Given the description of an element on the screen output the (x, y) to click on. 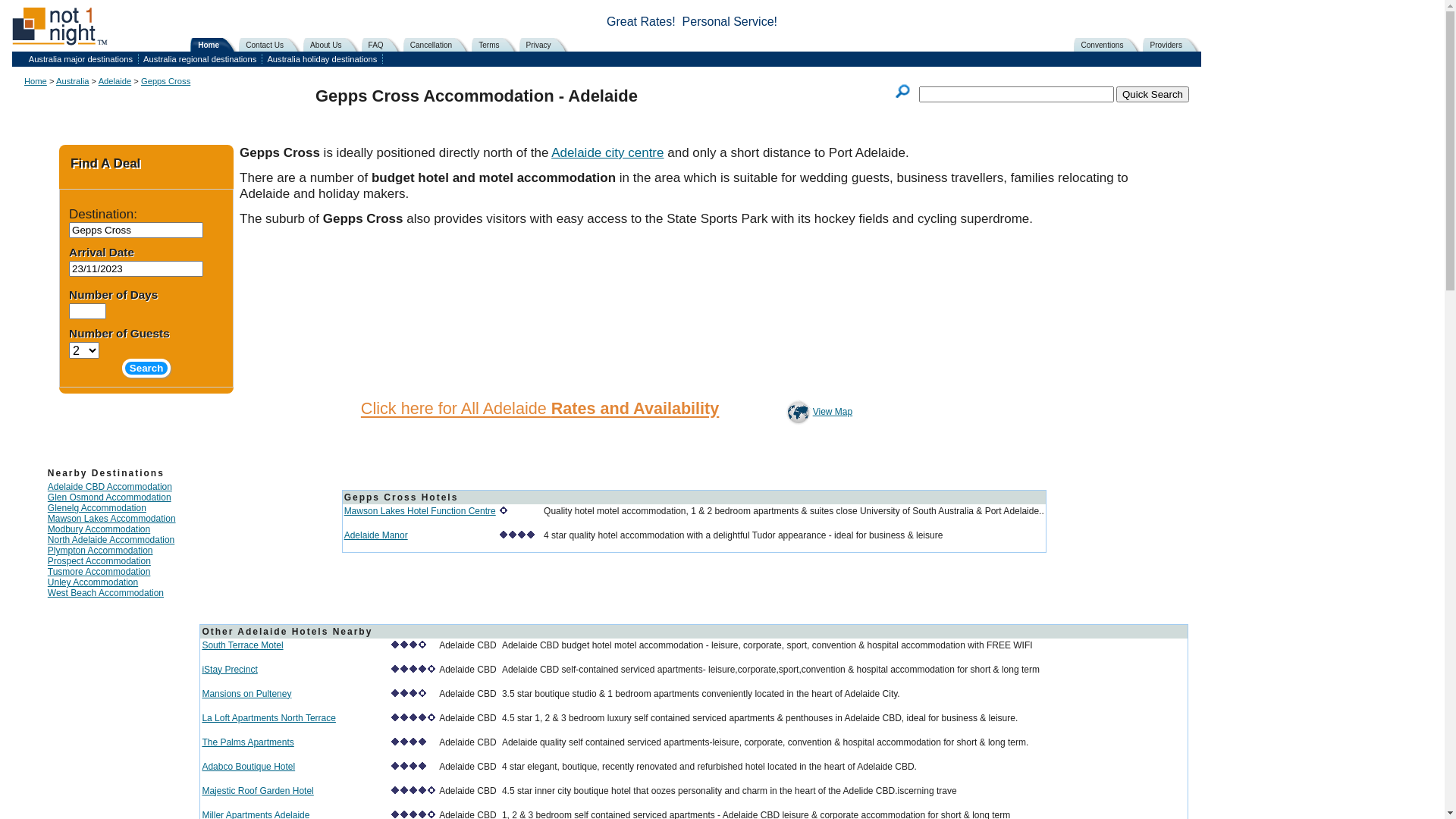
Click here for All Adelaide Rates and Availability Element type: text (539, 408)
The Palms Apartments Element type: text (247, 742)
Majestic Roof Garden Hotel Element type: text (257, 790)
Home Element type: text (35, 80)
Cancellation Element type: text (438, 44)
Australia holiday destinations Element type: text (322, 58)
Adelaide CBD Accommodation Element type: text (109, 486)
South Terrace Motel Element type: text (241, 645)
Australia Element type: text (72, 80)
Adelaide city centre Element type: text (607, 152)
Conventions Element type: text (1109, 44)
Contact Us Element type: text (272, 44)
Tusmore Accommodation Element type: text (98, 571)
Adelaide Element type: text (114, 80)
Privacy Element type: text (546, 44)
West Beach Accommodation Element type: text (105, 592)
Unley Accommodation Element type: text (92, 582)
Adabco Boutique Hotel Element type: text (247, 766)
Plympton Accommodation Element type: text (100, 550)
Australia major destinations Element type: text (81, 58)
View Map Element type: text (817, 411)
Glenelg Accommodation Element type: text (96, 507)
View Map Element type: hover (797, 411)
Gepps Cross Element type: text (165, 80)
Mawson Lakes Accommodation Element type: text (111, 518)
Terms Element type: text (496, 44)
About Us Element type: text (333, 44)
Modbury Accommodation Element type: text (98, 529)
Gepps Cross Accommodation - Adelaide Element type: text (476, 95)
Quick Search Element type: text (1152, 94)
North Adelaide Accommodation Element type: text (110, 539)
Glen Osmond Accommodation Element type: text (109, 497)
Mansions on Pulteney Element type: text (246, 693)
Home Element type: text (216, 44)
Australia regional destinations Element type: text (201, 58)
Adelaide Manor Element type: text (375, 535)
FAQ Element type: text (383, 44)
Prospect Accommodation Element type: text (98, 560)
La Loft Apartments North Terrace Element type: text (268, 717)
iStay Precinct Element type: text (229, 669)
Providers Element type: text (1173, 44)
Mawson Lakes Hotel Function Centre Element type: text (419, 510)
